Given the description of an element on the screen output the (x, y) to click on. 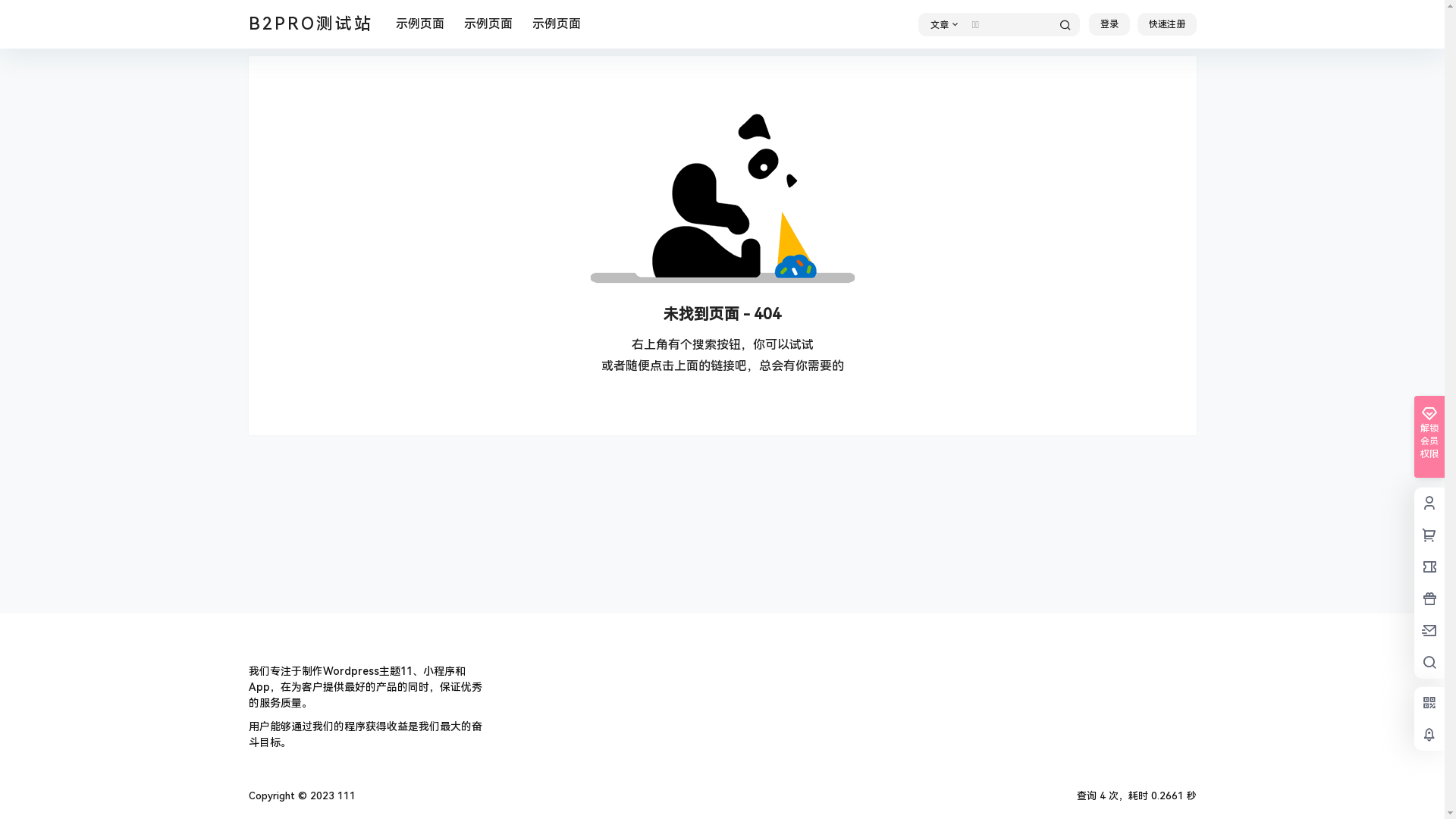
ok Element type: text (10, 10)
 111 Element type: text (343, 795)
